Given the description of an element on the screen output the (x, y) to click on. 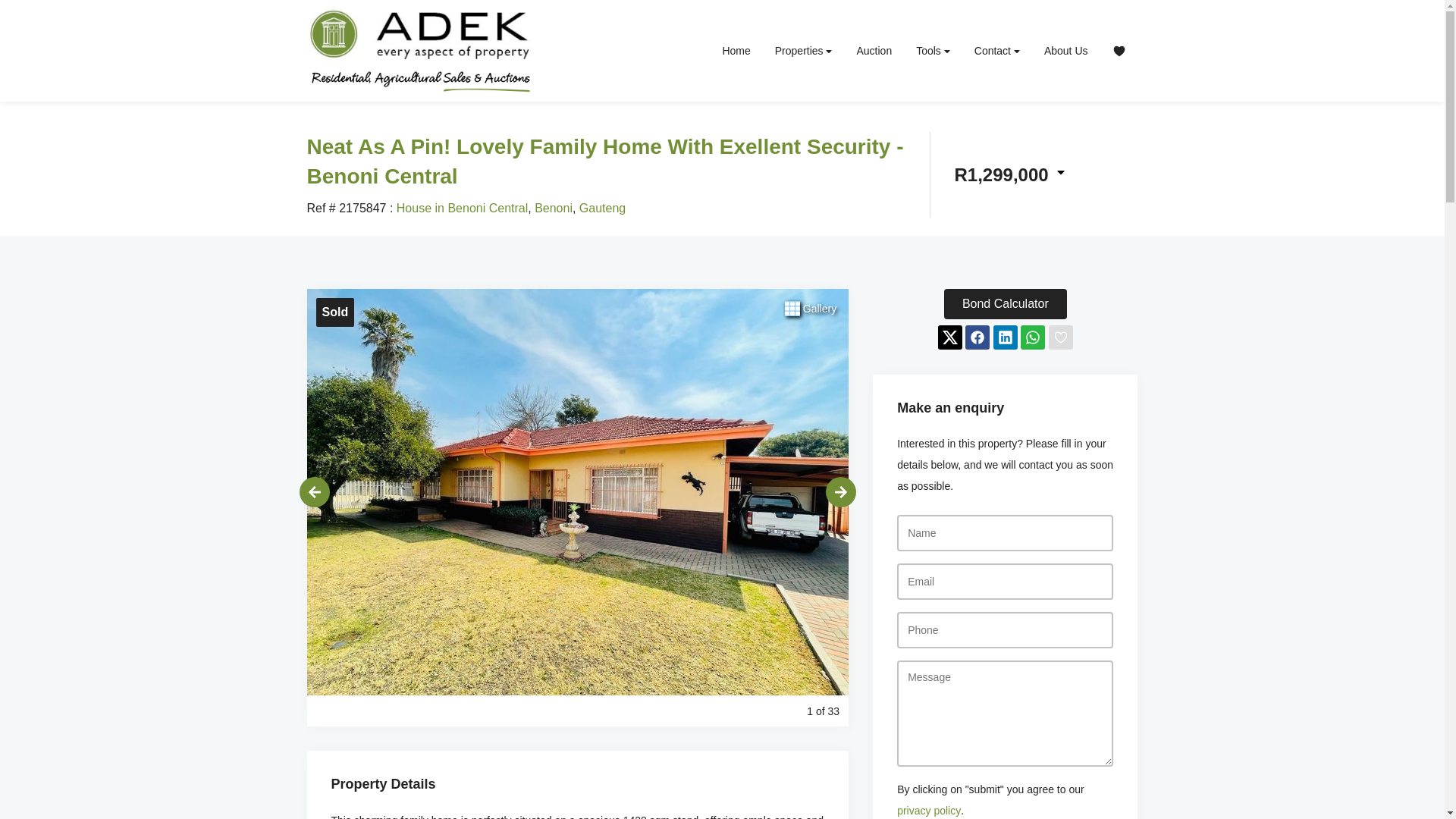
privacy policy (928, 809)
Bond Calculator (1005, 304)
Share to X (949, 337)
Share to WhatsApp (1032, 337)
Currency converter (1009, 175)
Share to LinkedIn (1004, 337)
Auction (874, 50)
Favourites (1118, 50)
Add this property to your favourites (1060, 337)
Favourites (1118, 50)
